Given the description of an element on the screen output the (x, y) to click on. 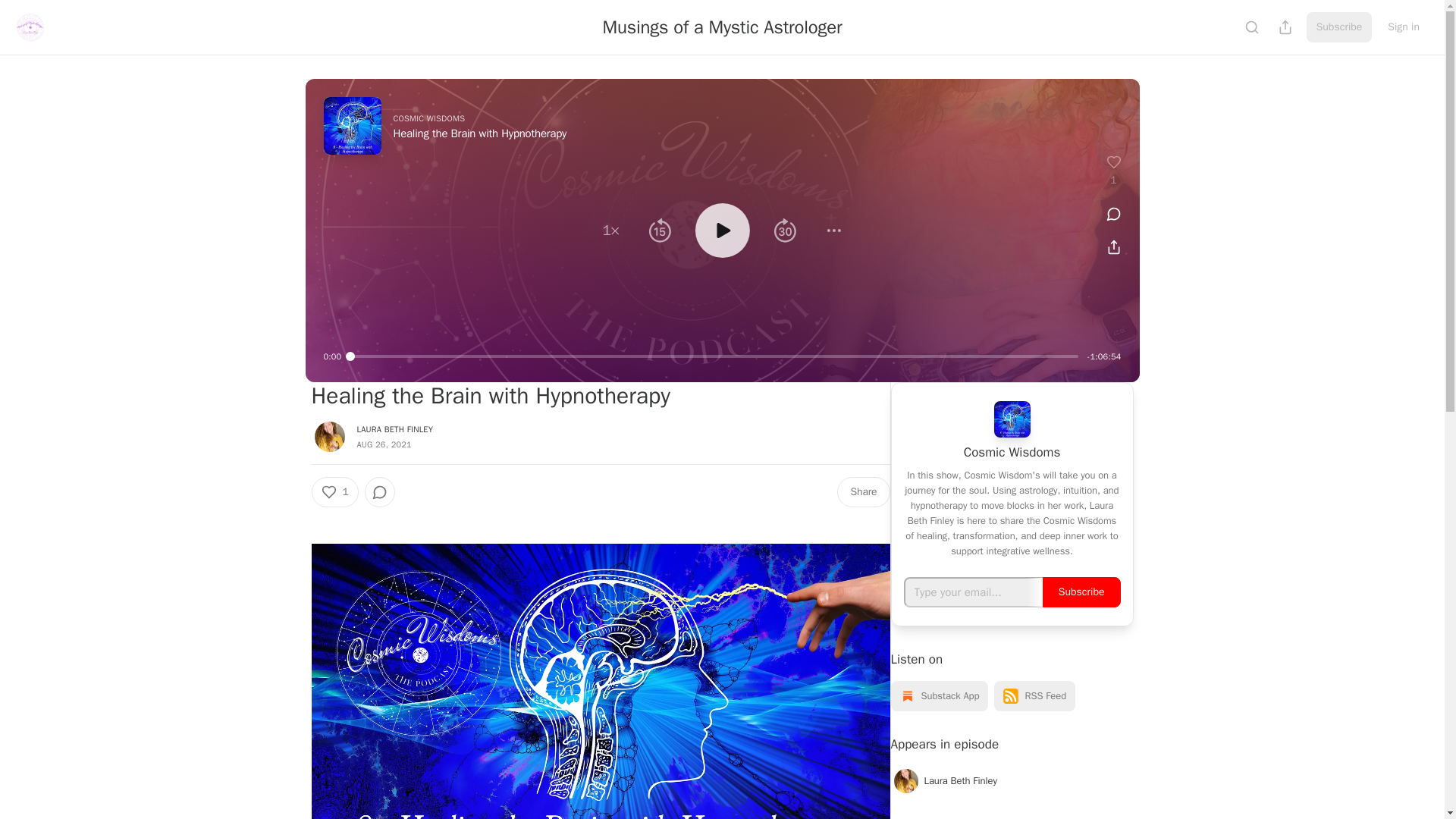
Share (863, 491)
LAURA BETH FINLEY (394, 429)
Sign in (1403, 27)
1 (334, 491)
Subscribe (1339, 27)
Musings of a Mystic Astrologer (722, 26)
